Given the description of an element on the screen output the (x, y) to click on. 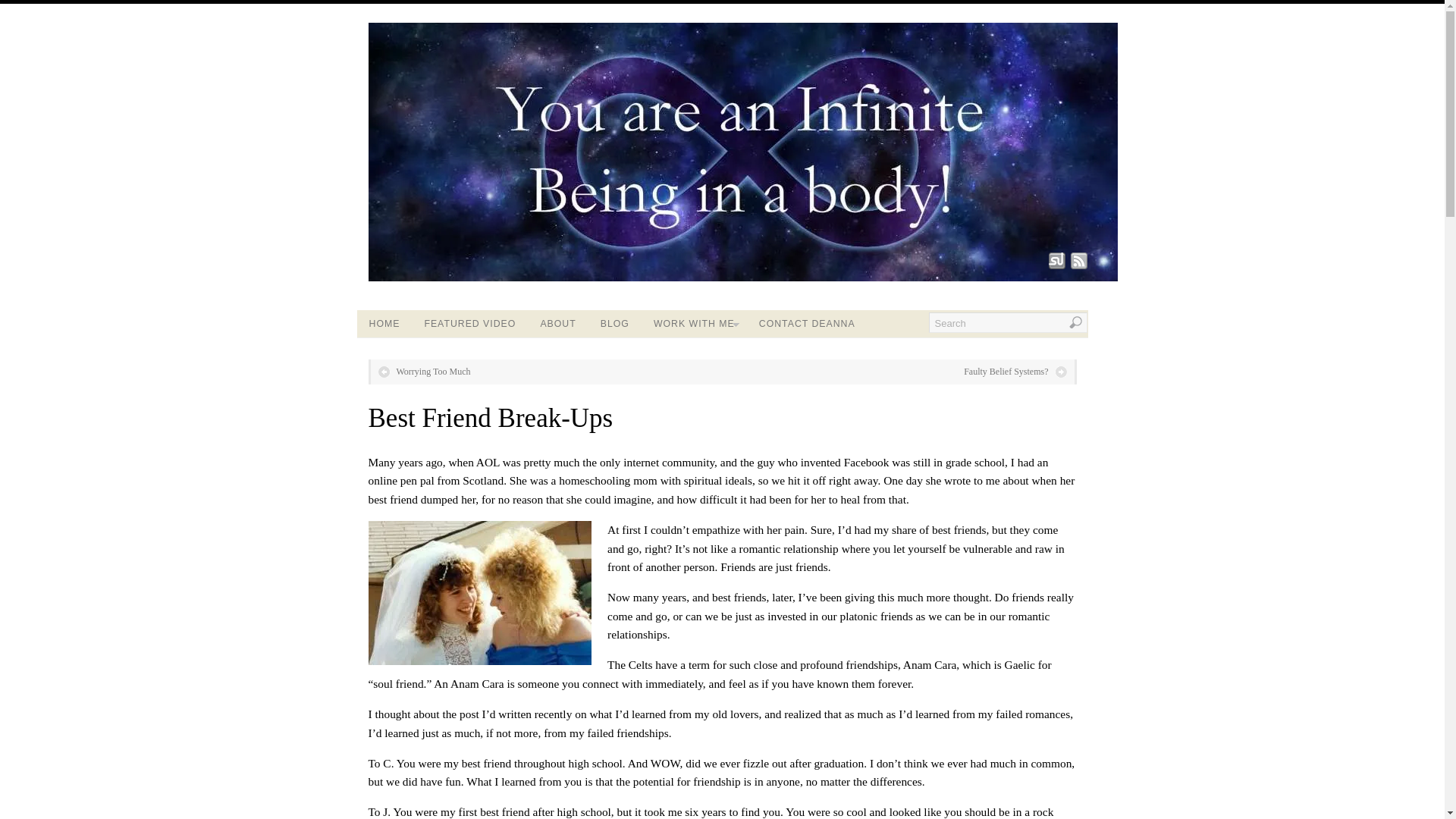
HOME (384, 323)
FEATURED VIDEO (469, 323)
Search (1007, 322)
Faulty Belief Systems? (1014, 371)
WORK WITH ME (694, 323)
Worrying Too Much (423, 371)
Deanna Leigh Joseph (743, 277)
Me and J (479, 592)
CONTACT DEANNA (806, 323)
Search (1007, 322)
BLOG (615, 323)
ABOUT (557, 323)
